Given the description of an element on the screen output the (x, y) to click on. 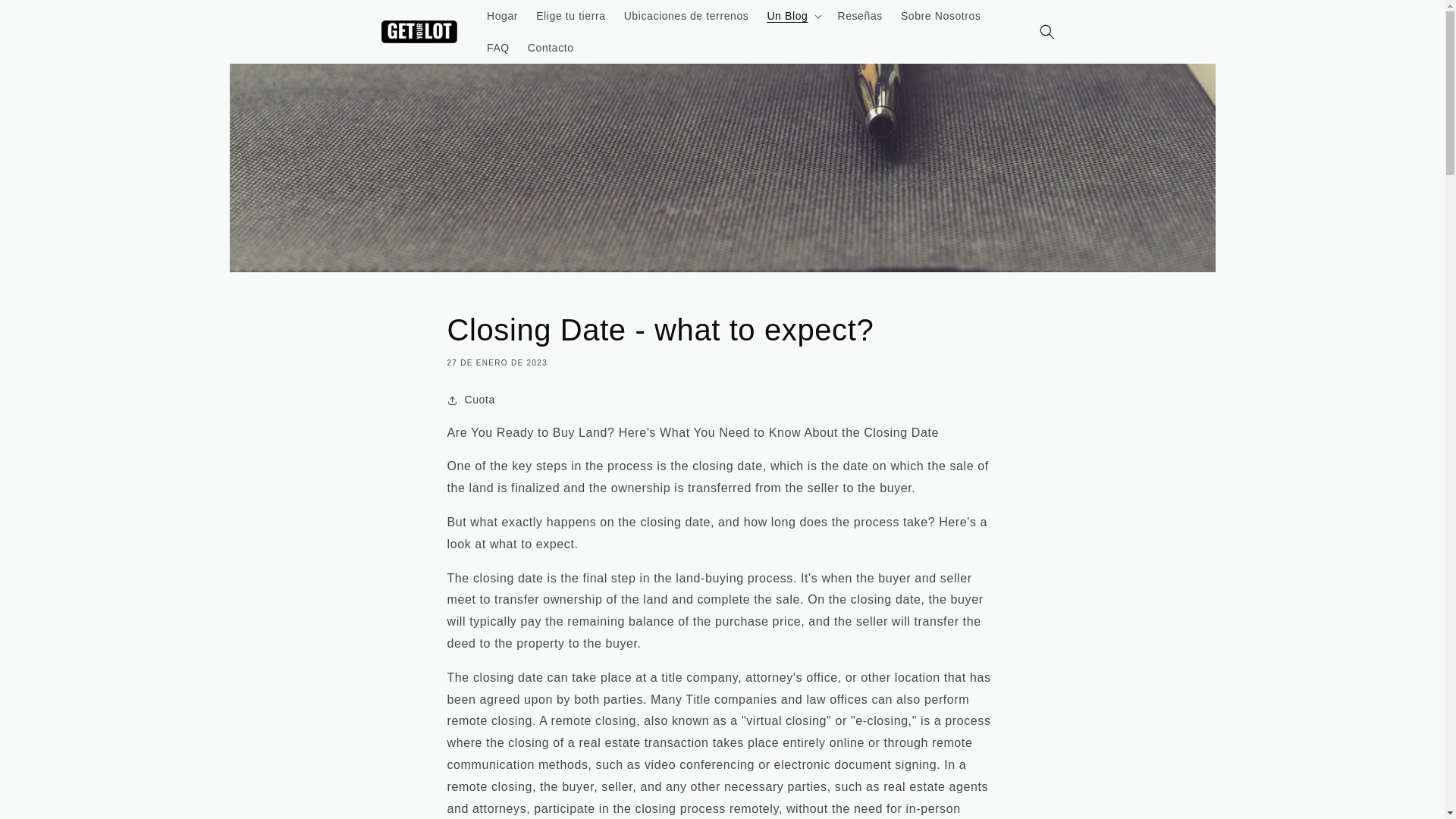
Ir directamente al contenido (45, 17)
